Given the description of an element on the screen output the (x, y) to click on. 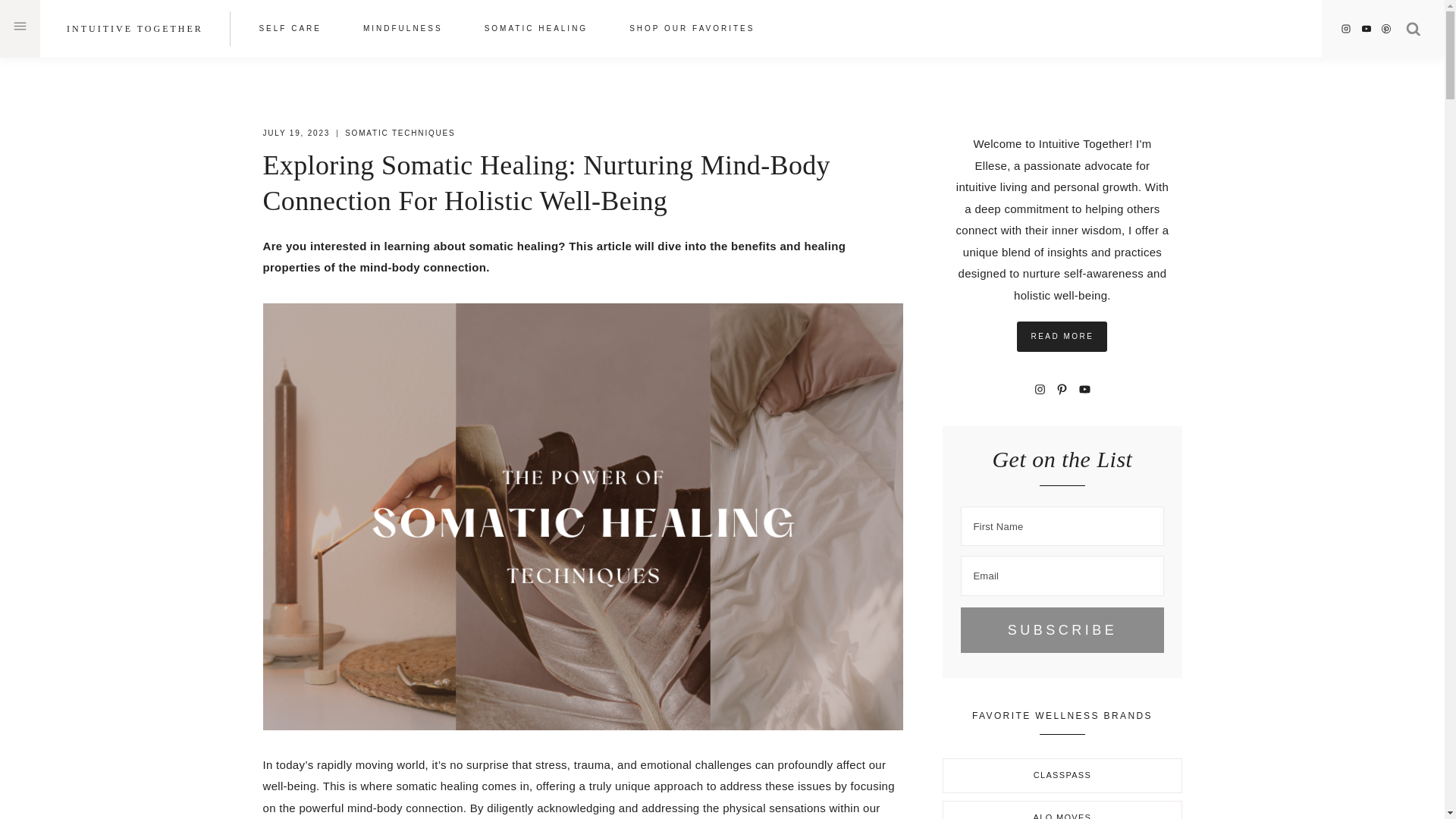
SHOP OUR FAVORITES (692, 28)
INTUITIVE TOGETHER (134, 28)
MINDFULNESS (402, 28)
Subscribe (1061, 629)
SELF CARE (290, 28)
SOMATIC HEALING (535, 28)
SOMATIC TECHNIQUES (399, 132)
